Given the description of an element on the screen output the (x, y) to click on. 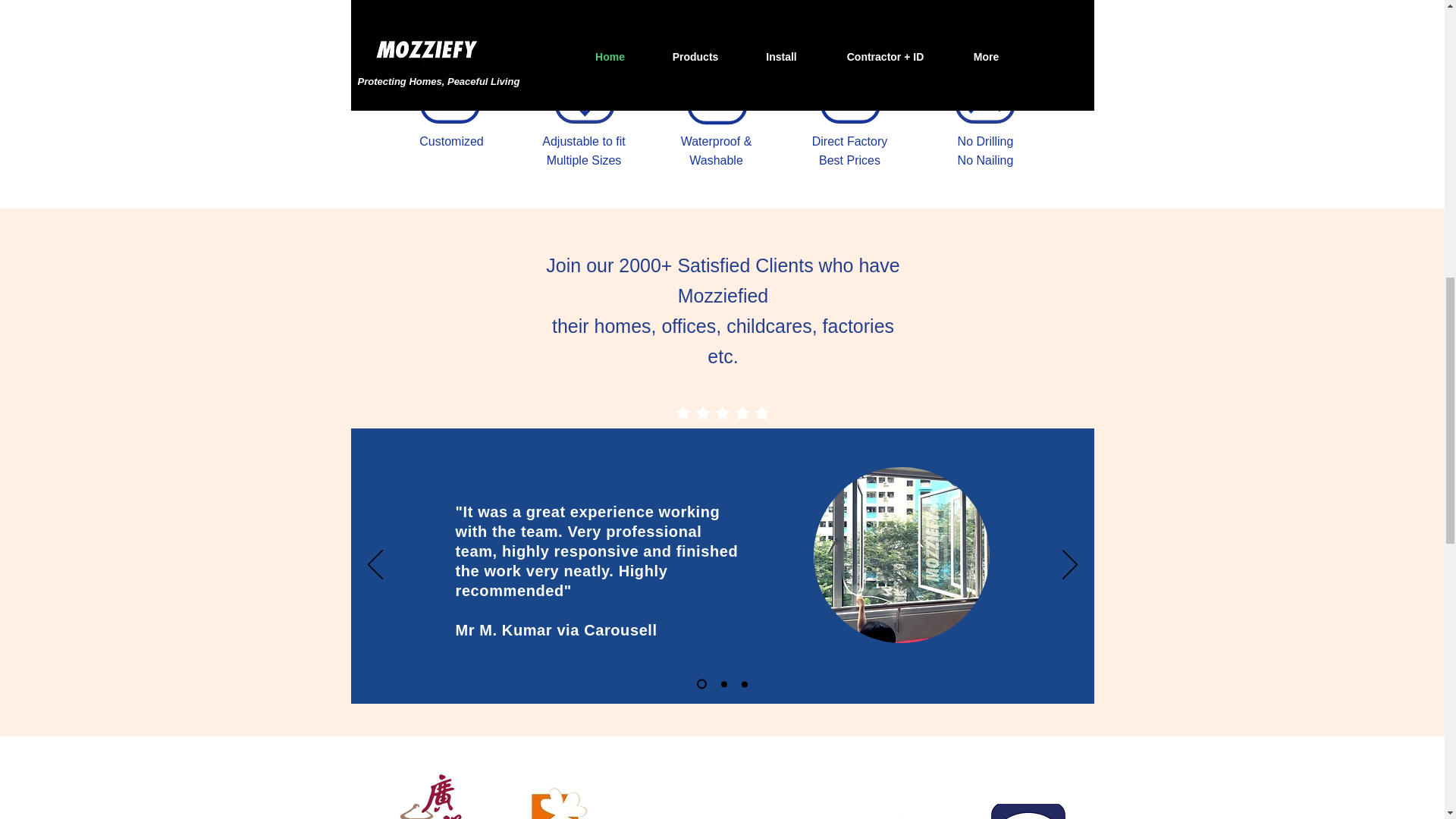
four seasons catering.jpeg (554, 798)
